Given the description of an element on the screen output the (x, y) to click on. 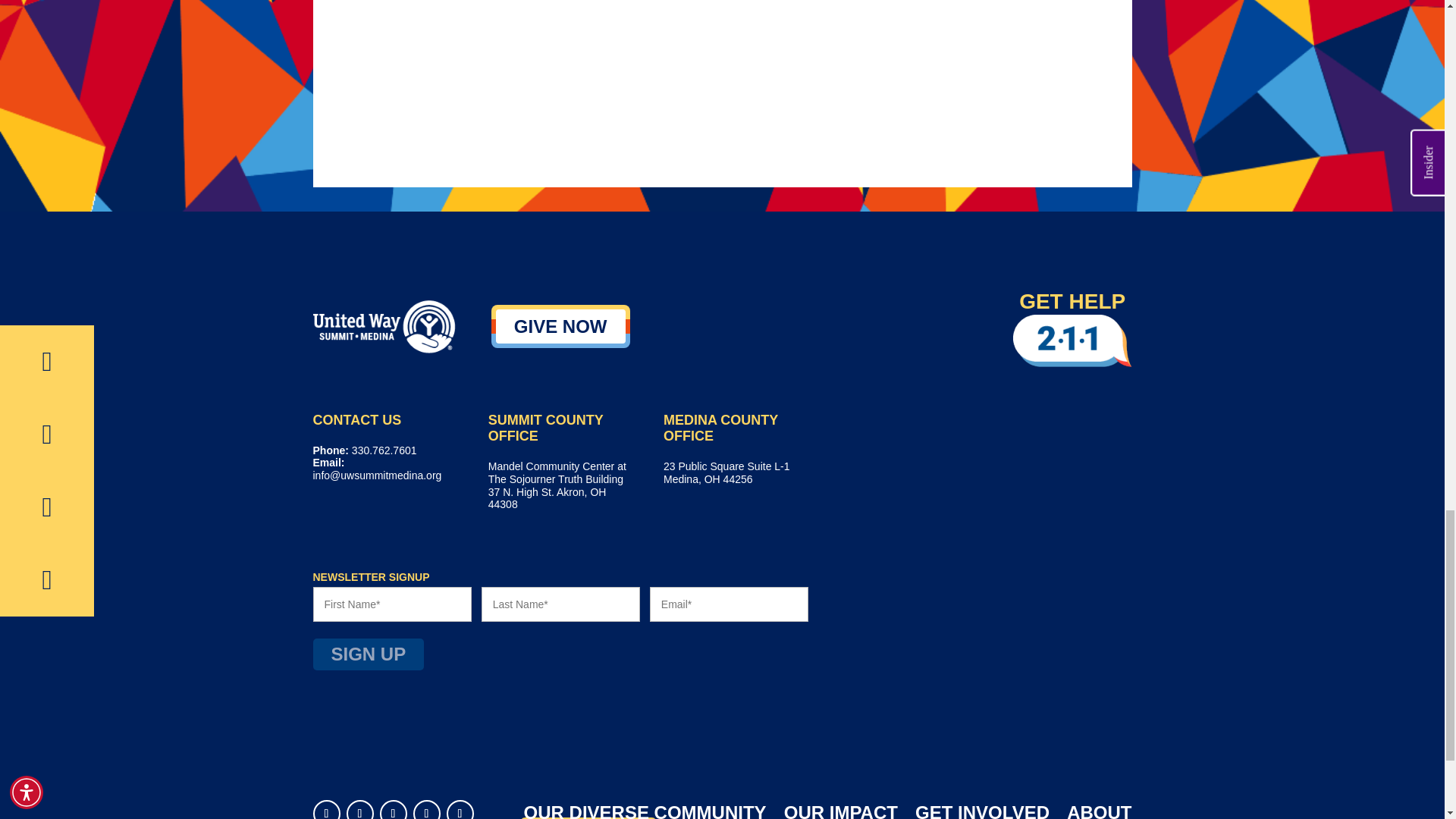
Follow on Facebook (359, 809)
Sign Up (368, 654)
Follow on Instagram (459, 809)
logo-211 (1072, 340)
Follow on LinkedIn (326, 809)
Follow on Youtube (425, 809)
logo-white (385, 325)
Follow on X (392, 809)
